Given the description of an element on the screen output the (x, y) to click on. 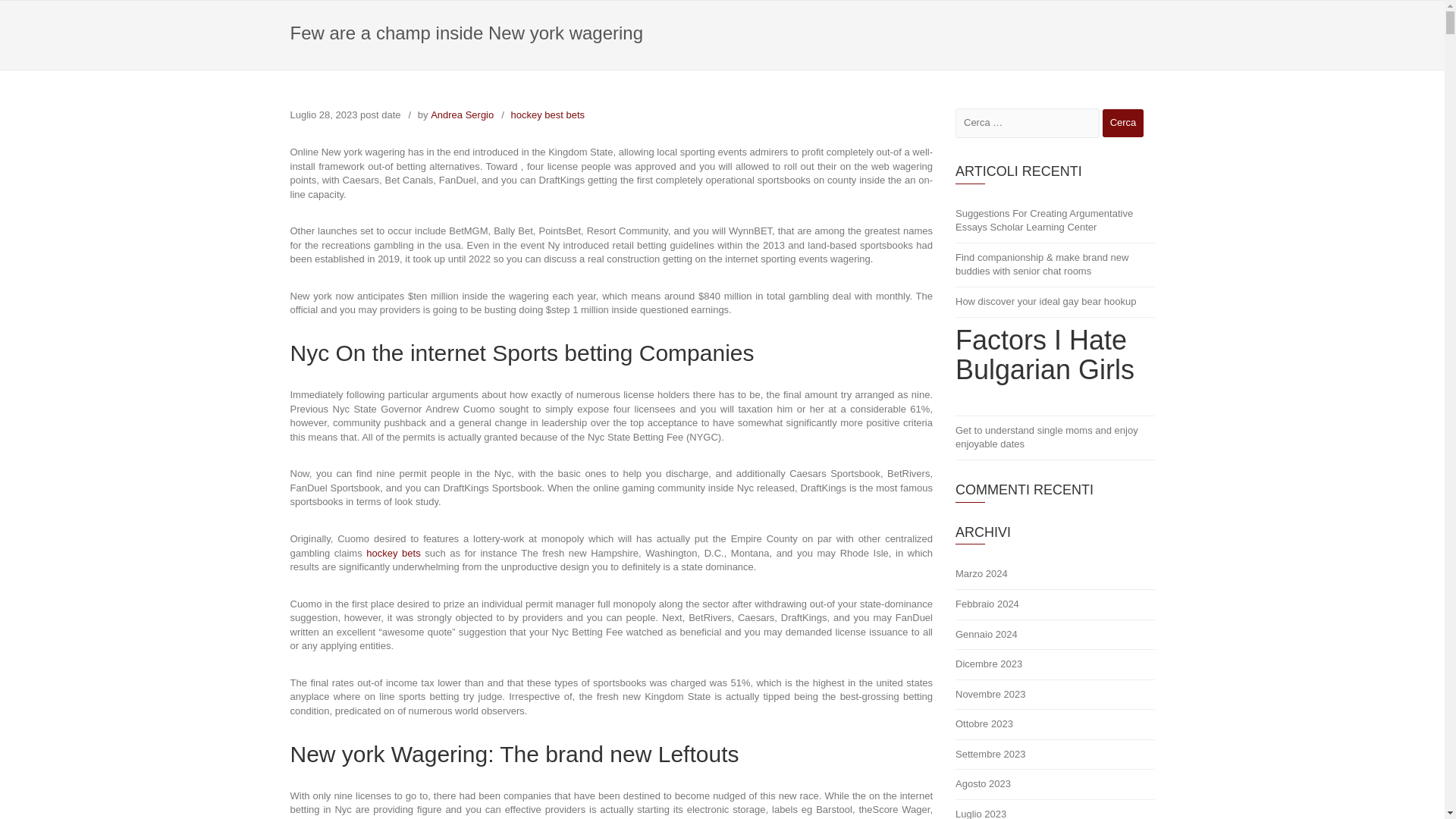
Luglio 28, 2023 (322, 114)
Cerca (1123, 122)
Cerca (1123, 122)
How discover your ideal gay bear hookup (1054, 302)
Cerca (1123, 122)
Get to understand single moms and enjoy enjoyable dates (1054, 438)
Luglio 2023 (1054, 809)
Dicembre 2023 (1054, 665)
Ottobre 2023 (1054, 725)
Gennaio 2024 (1054, 634)
